Given the description of an element on the screen output the (x, y) to click on. 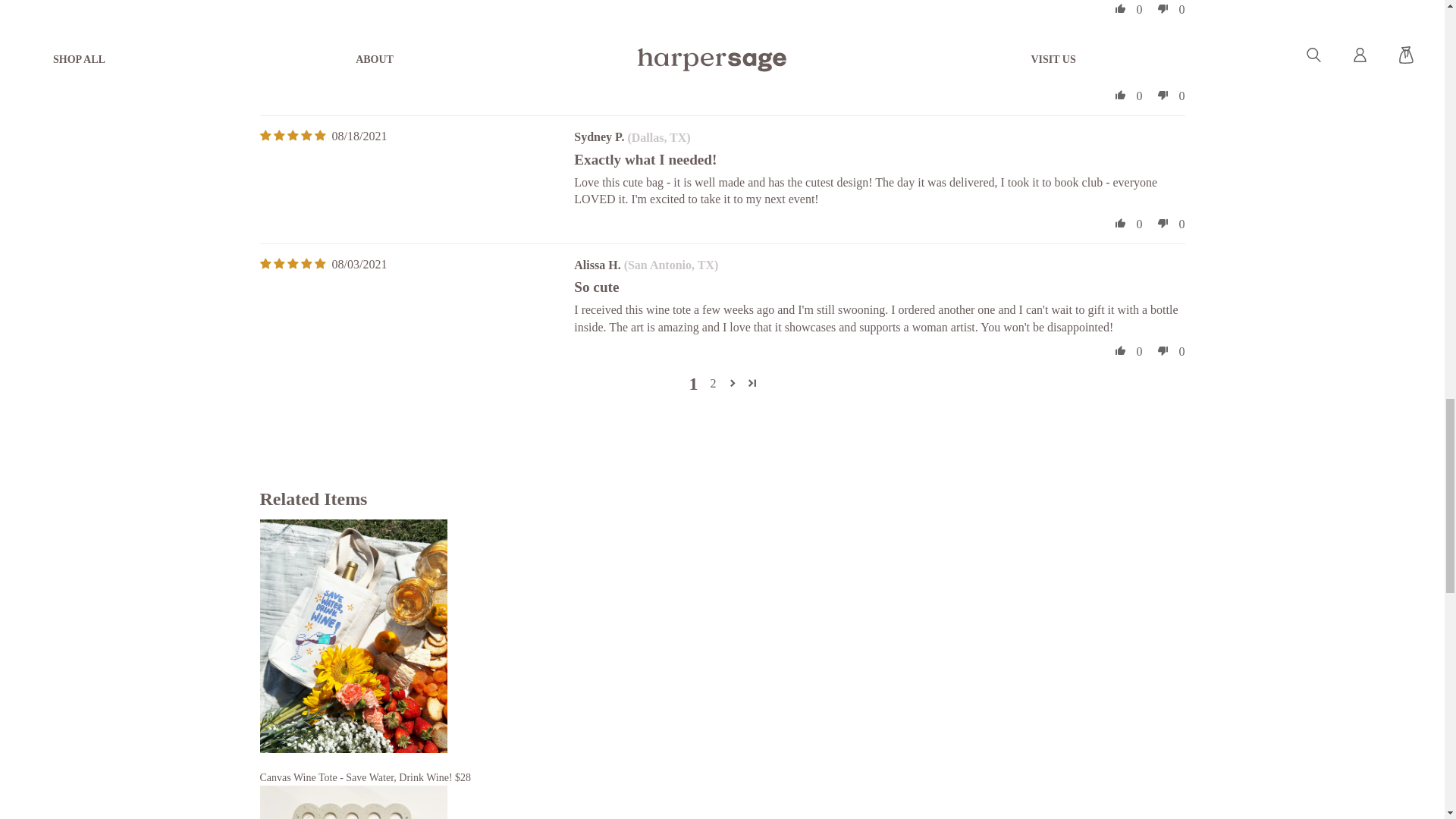
up (1120, 222)
up (1120, 9)
down (1162, 222)
down (1162, 9)
up (1120, 350)
down (1162, 94)
down (1162, 350)
up (1120, 94)
